Given the description of an element on the screen output the (x, y) to click on. 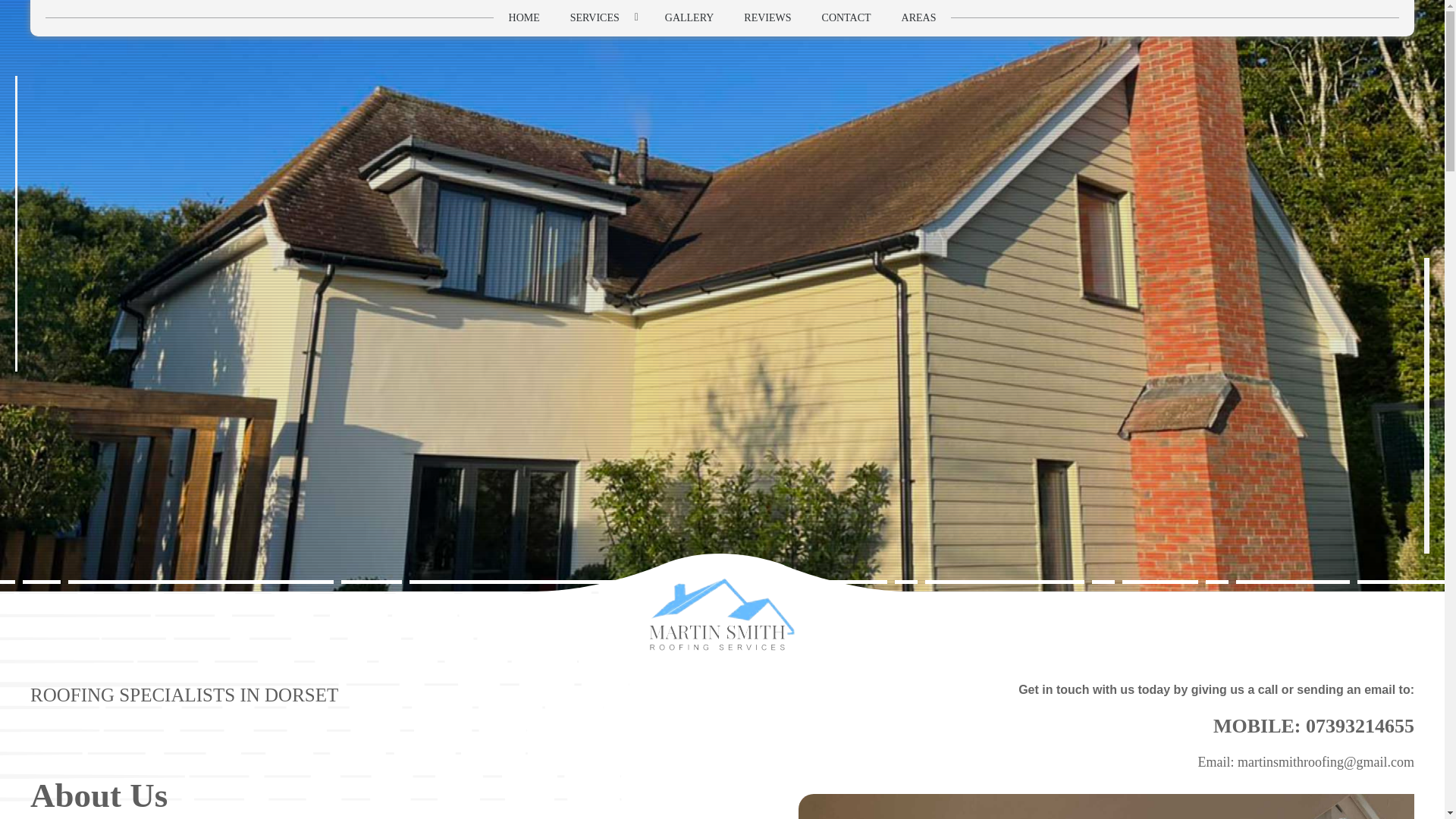
REVIEWS (767, 18)
07393214655 (1359, 725)
GALLERY (689, 18)
CONTACT (846, 18)
HOME (523, 18)
SERVICES (601, 18)
AREAS (919, 18)
